Given the description of an element on the screen output the (x, y) to click on. 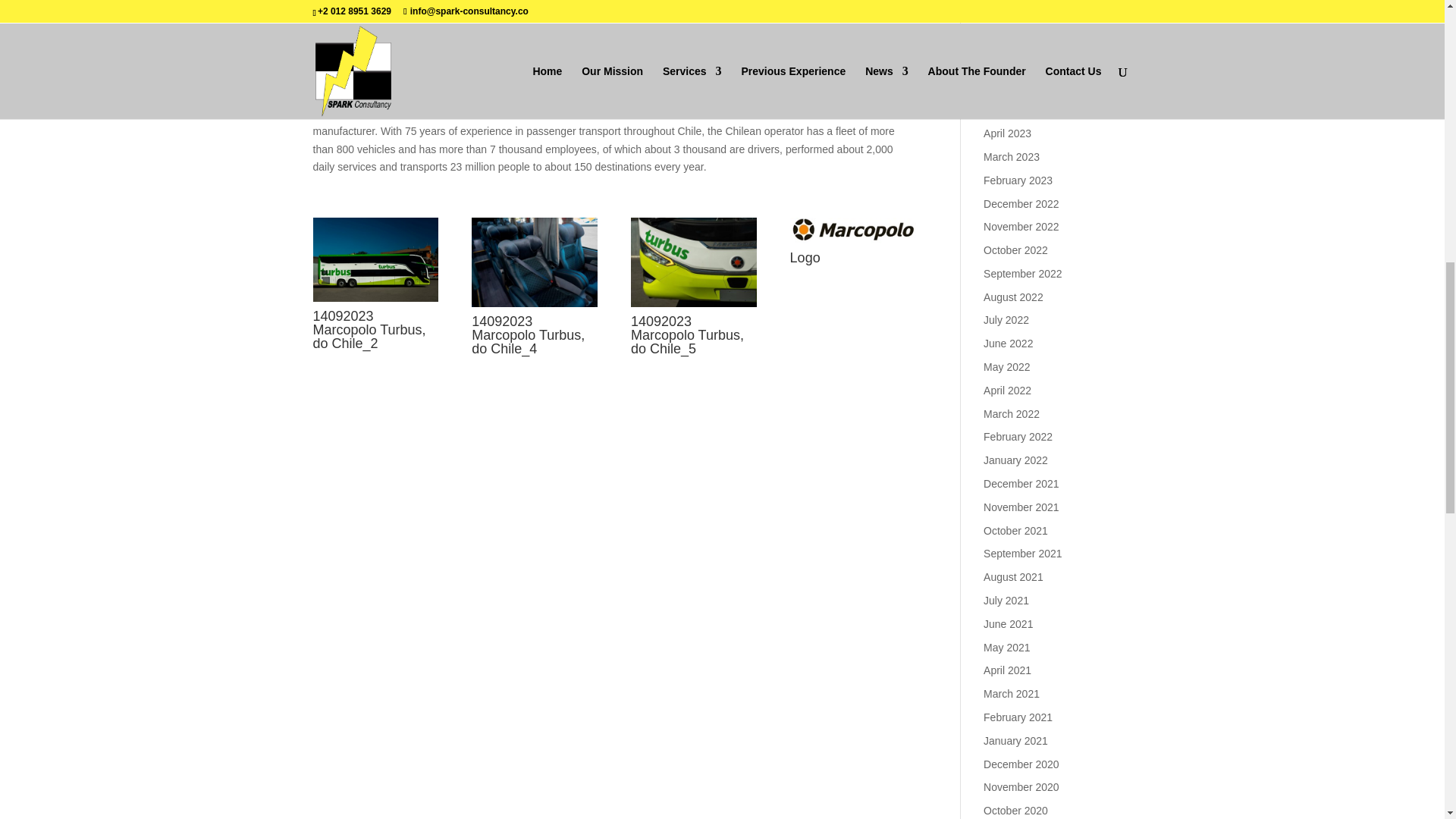
Logo (852, 243)
